Given the description of an element on the screen output the (x, y) to click on. 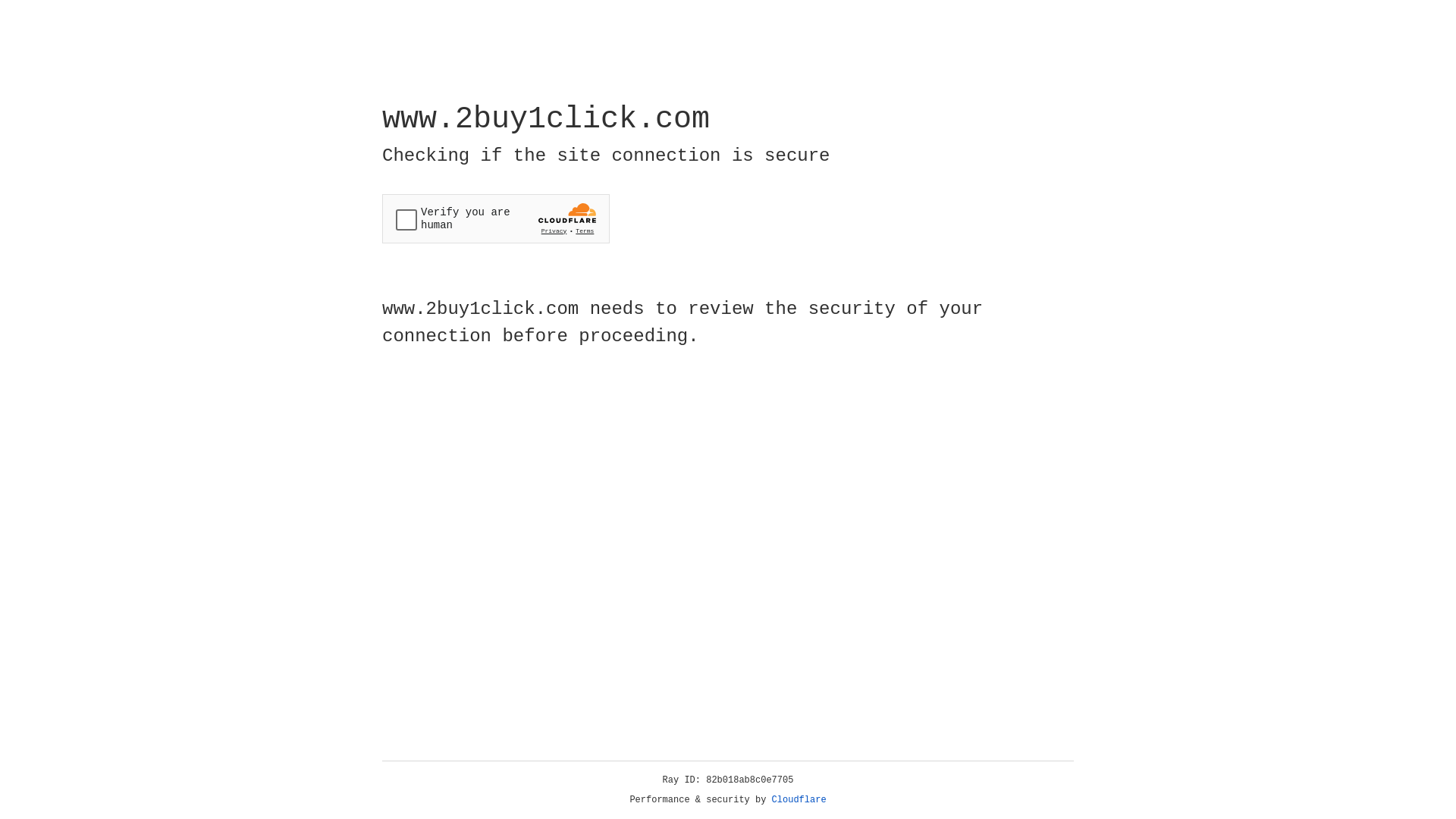
Widget containing a Cloudflare security challenge Element type: hover (495, 218)
Cloudflare Element type: text (798, 799)
